Given the description of an element on the screen output the (x, y) to click on. 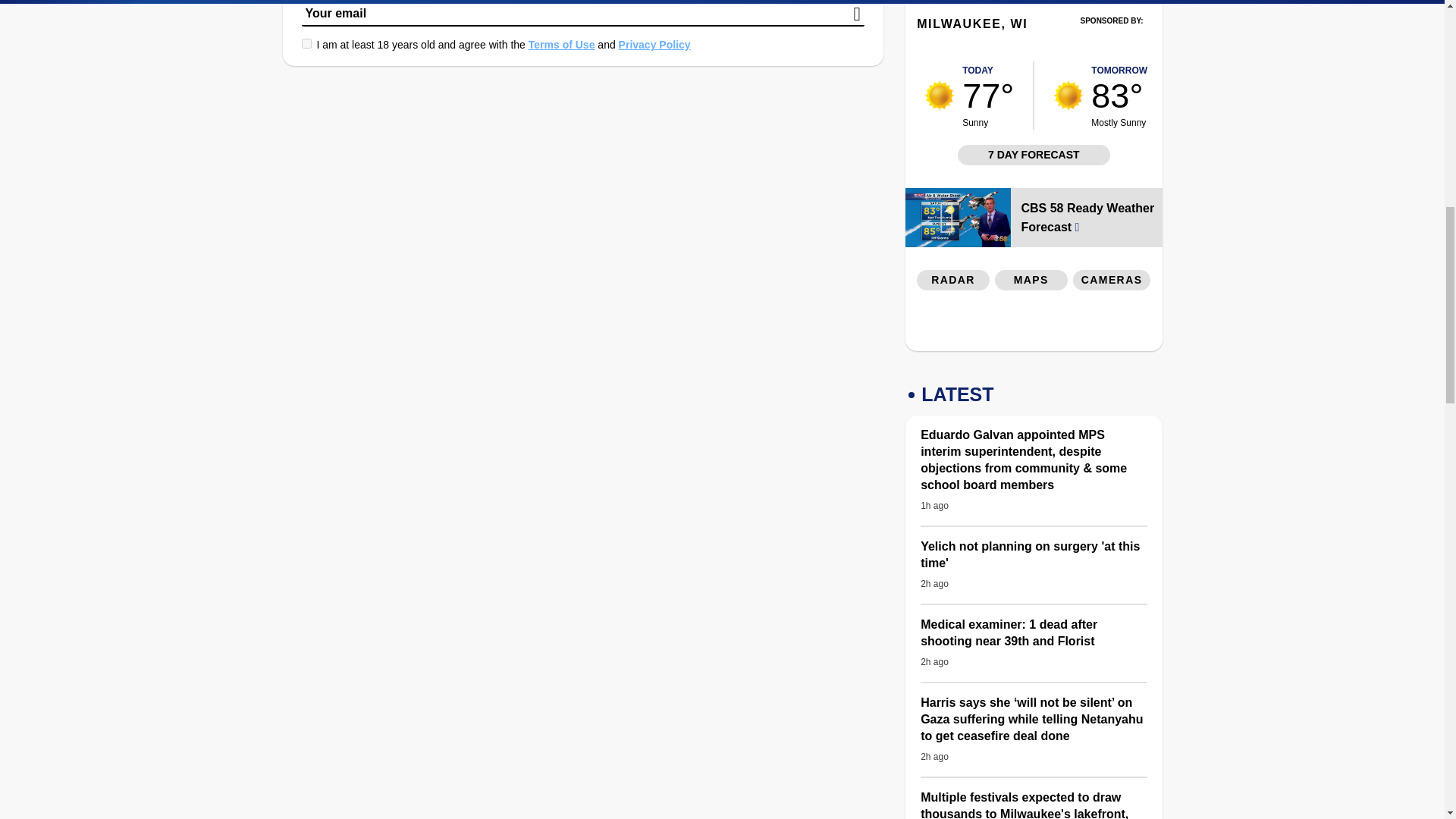
weather (1067, 95)
3rd party ad content (1034, 324)
weather (939, 95)
on (306, 43)
3rd party ad content (1112, 42)
